Given the description of an element on the screen output the (x, y) to click on. 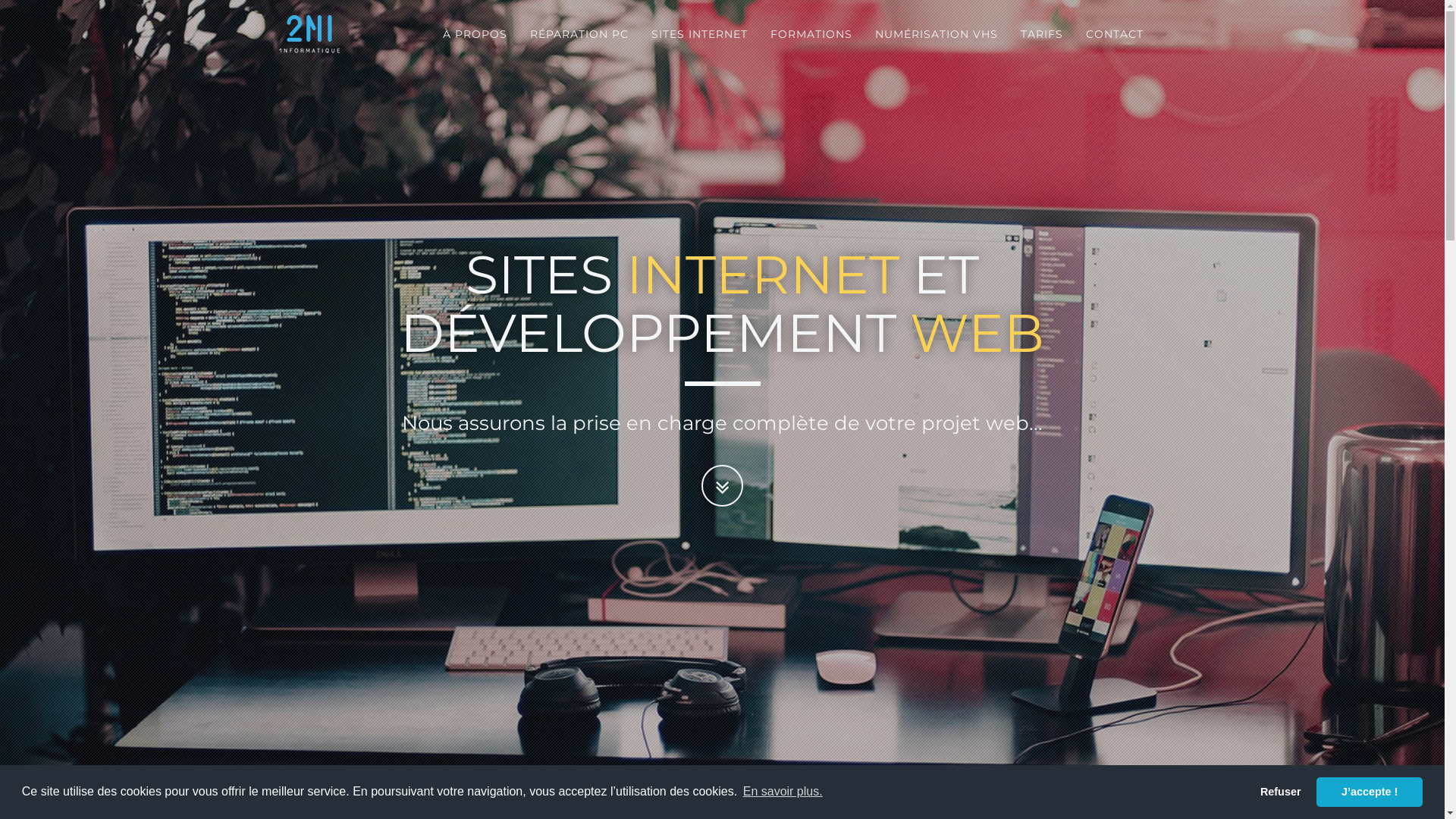
CONTACT Element type: text (1113, 34)
TARIFS Element type: text (1040, 34)
En savoir plus. Element type: text (782, 791)
Refuser Element type: text (1280, 791)
FORMATIONS Element type: text (810, 34)
SITES INTERNET Element type: text (699, 34)
